Given the description of an element on the screen output the (x, y) to click on. 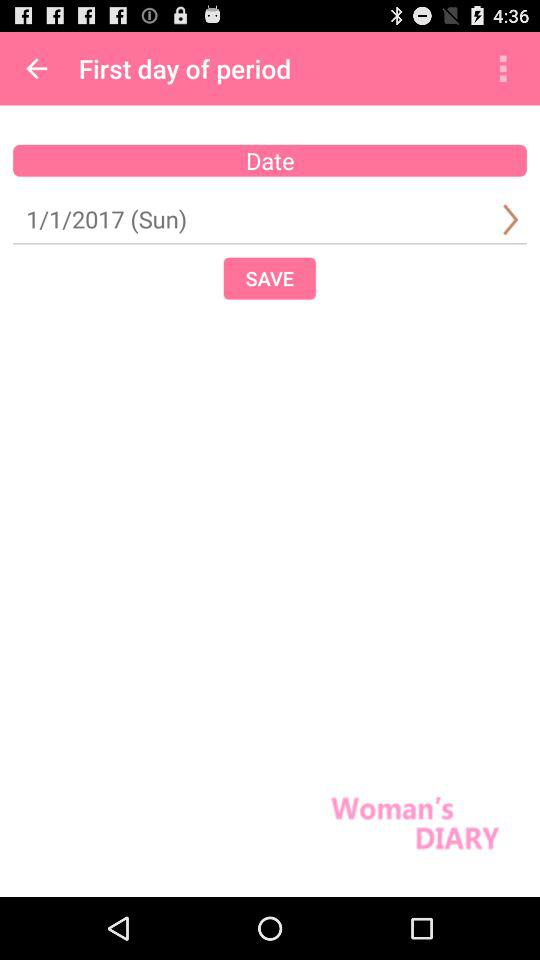
launch the item next to first day of app (503, 67)
